Given the description of an element on the screen output the (x, y) to click on. 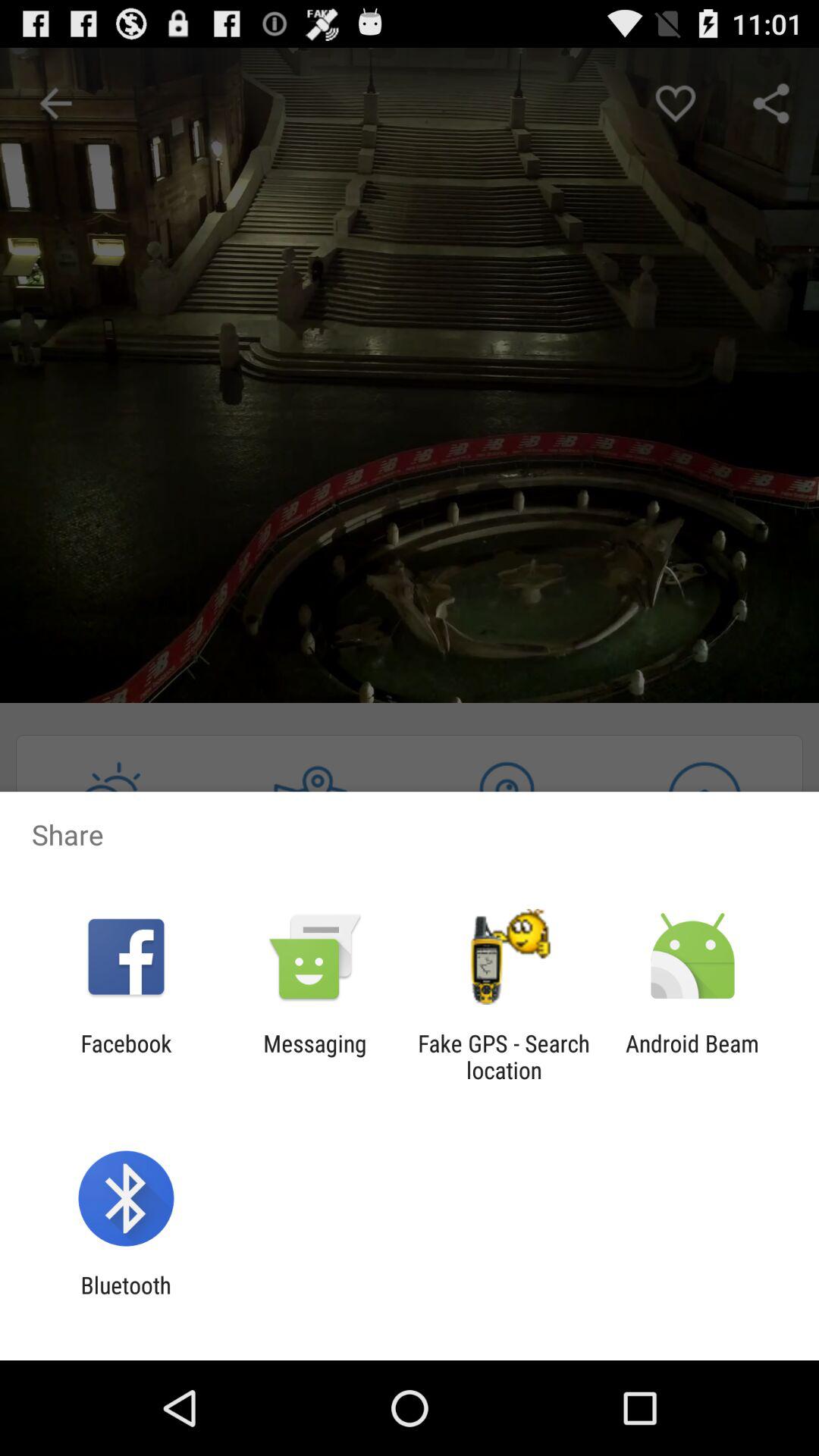
tap the item to the right of the facebook (314, 1056)
